Given the description of an element on the screen output the (x, y) to click on. 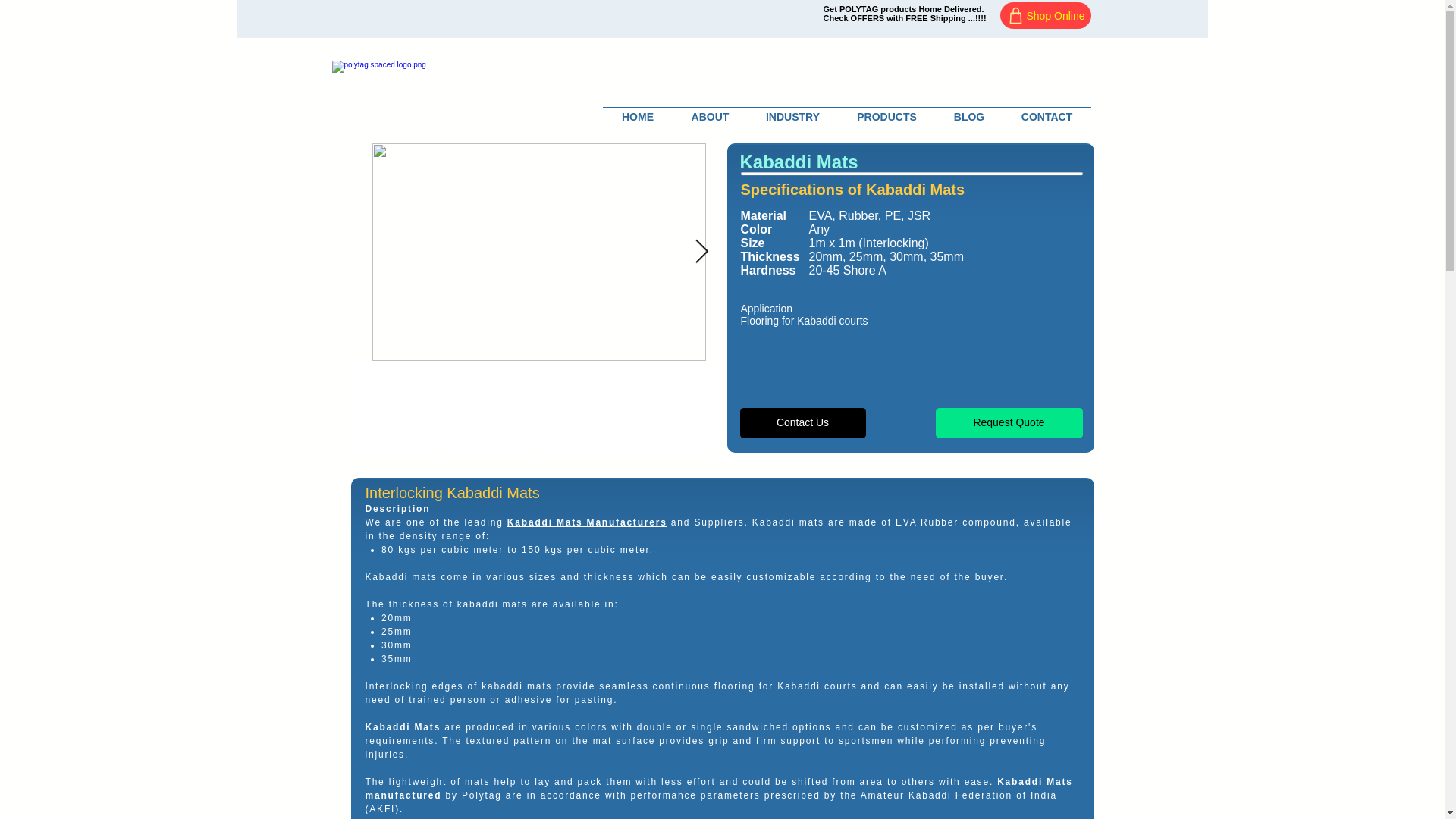
Request Quote (1009, 422)
CONTACT (1046, 116)
HOME (637, 116)
ABOUT (710, 116)
logo polytag.png (469, 97)
Kabaddi Mats Manufacturers (586, 521)
BLOG (969, 116)
Shop Online (1044, 15)
Contact Us (802, 422)
